Given the description of an element on the screen output the (x, y) to click on. 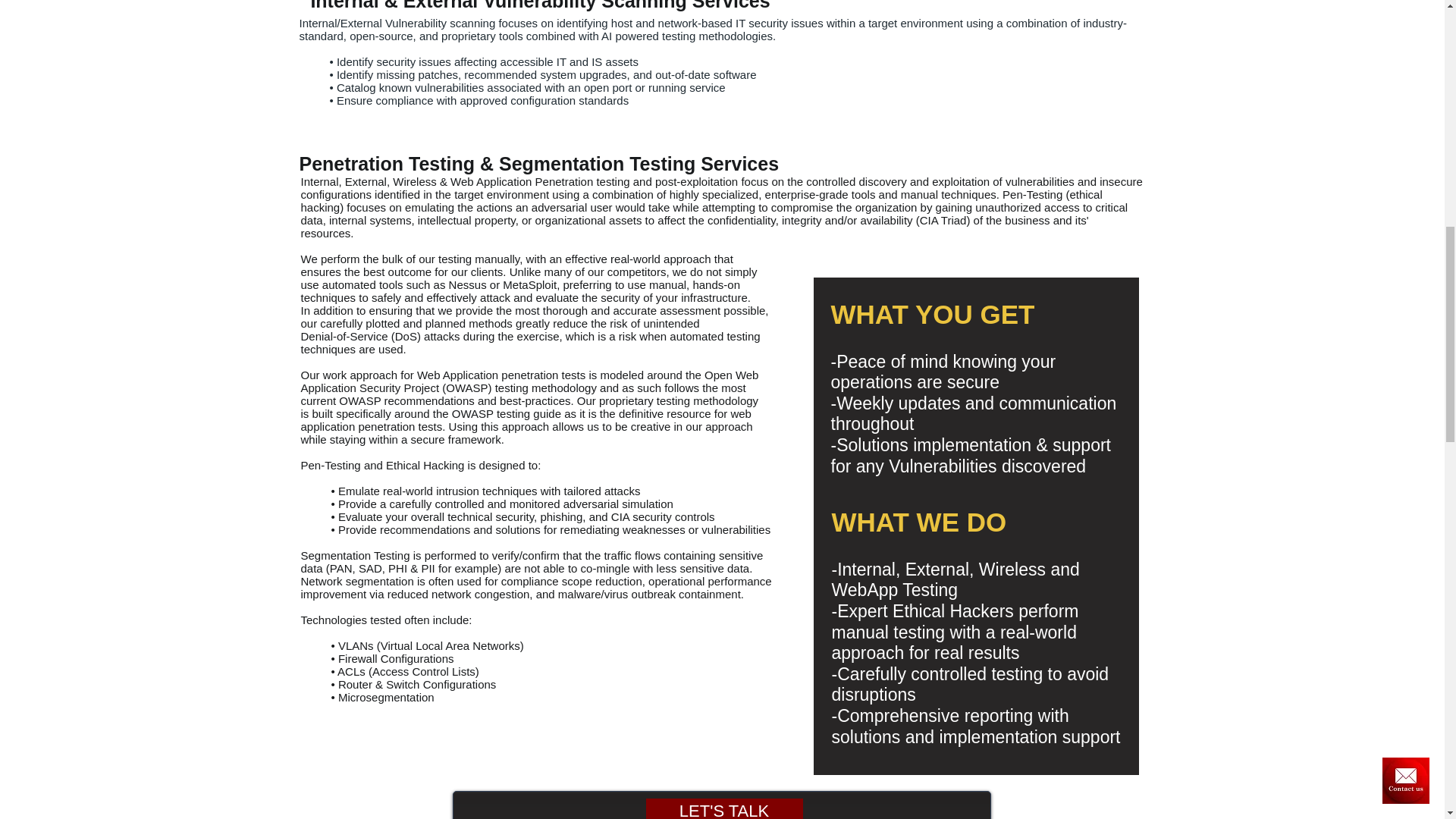
LET'S TALK (724, 808)
